Given the description of an element on the screen output the (x, y) to click on. 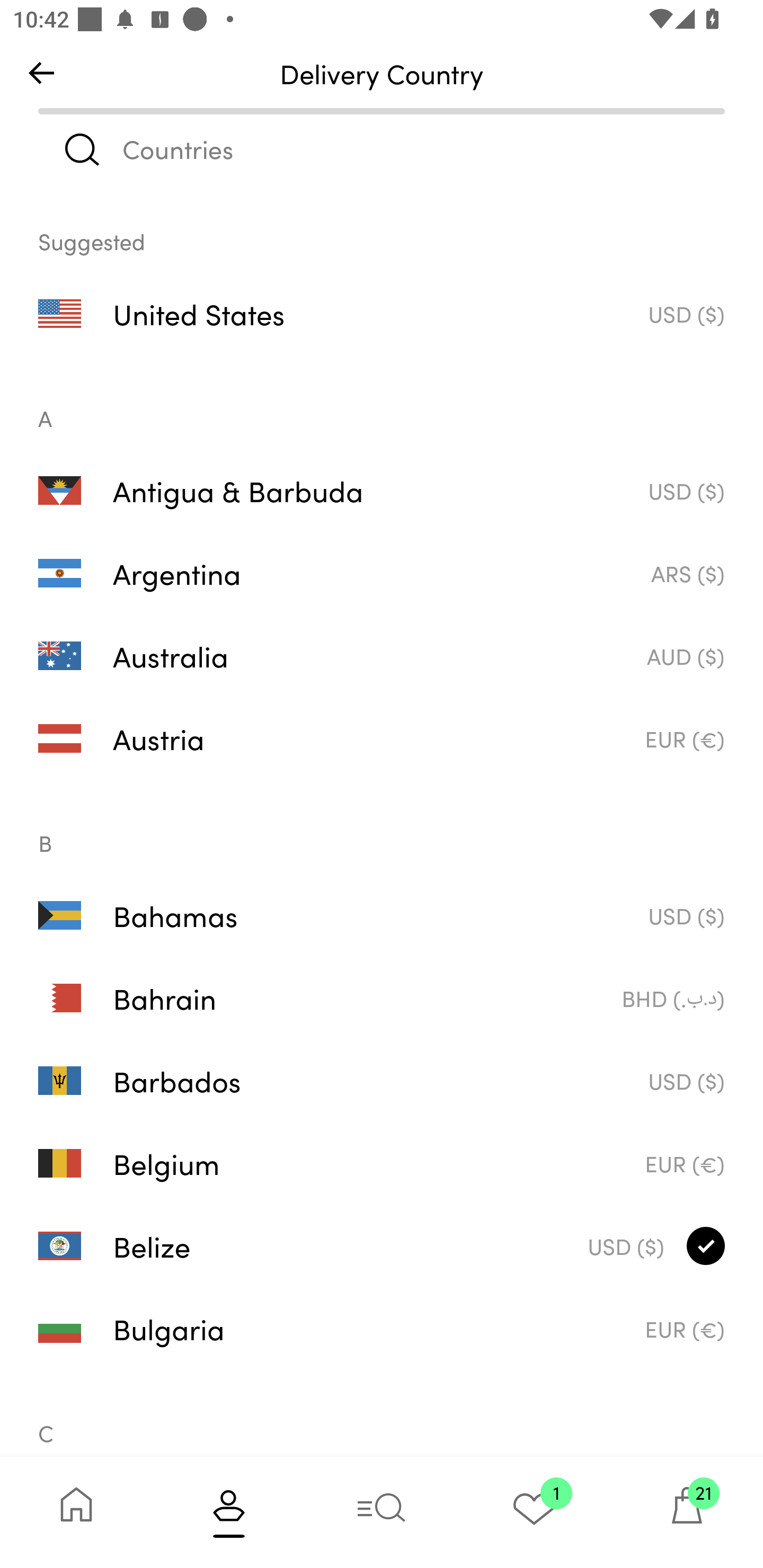
United States USD ($) (381, 313)
Antigua & Barbuda USD ($) (381, 489)
Argentina ARS ($) (381, 572)
Australia AUD ($) (381, 655)
Austria EUR (€) (381, 738)
Bahamas USD ($) (381, 914)
Bahrain BHD (.د.ب) (381, 997)
Barbados USD ($) (381, 1080)
Belgium EUR (€) (381, 1163)
Belize USD ($) (381, 1245)
Bulgaria EUR (€) (381, 1328)
1 (533, 1512)
21 (686, 1512)
